Given the description of an element on the screen output the (x, y) to click on. 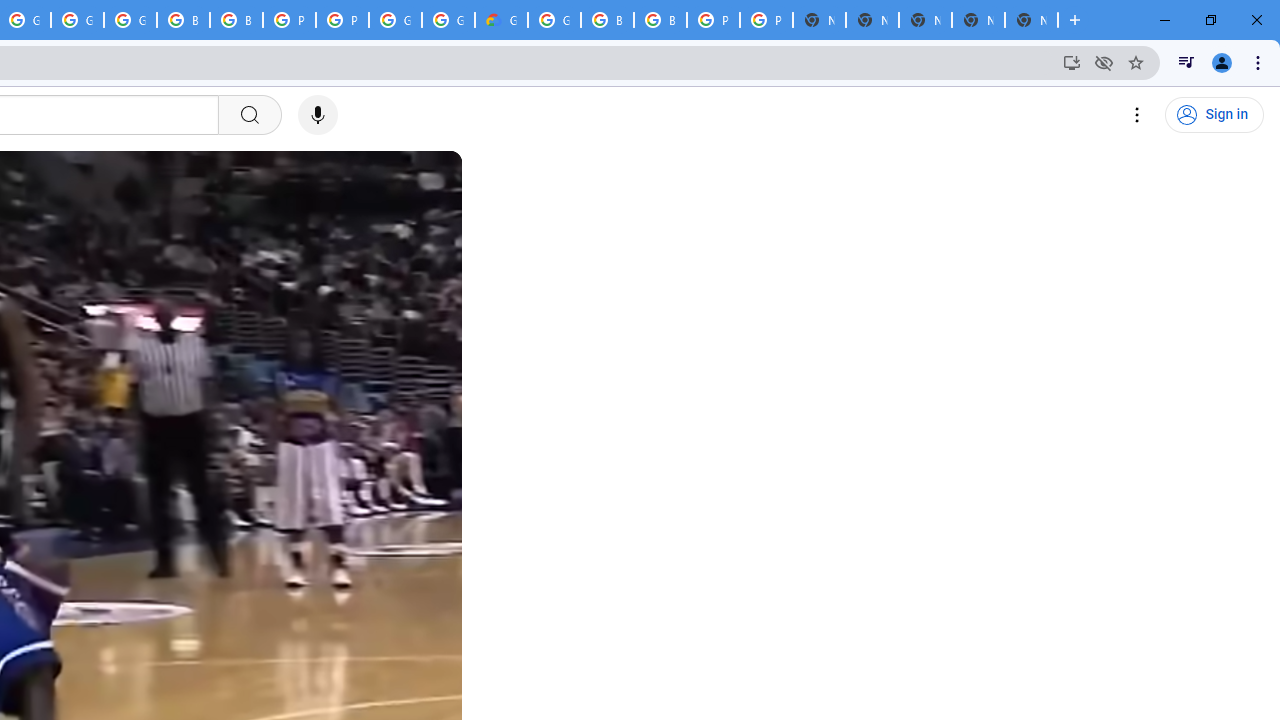
Search with your voice (317, 115)
Settings (1137, 115)
New Tab (1031, 20)
Control your music, videos, and more (1185, 62)
Google Cloud Platform (395, 20)
Google Cloud Platform (554, 20)
